Given the description of an element on the screen output the (x, y) to click on. 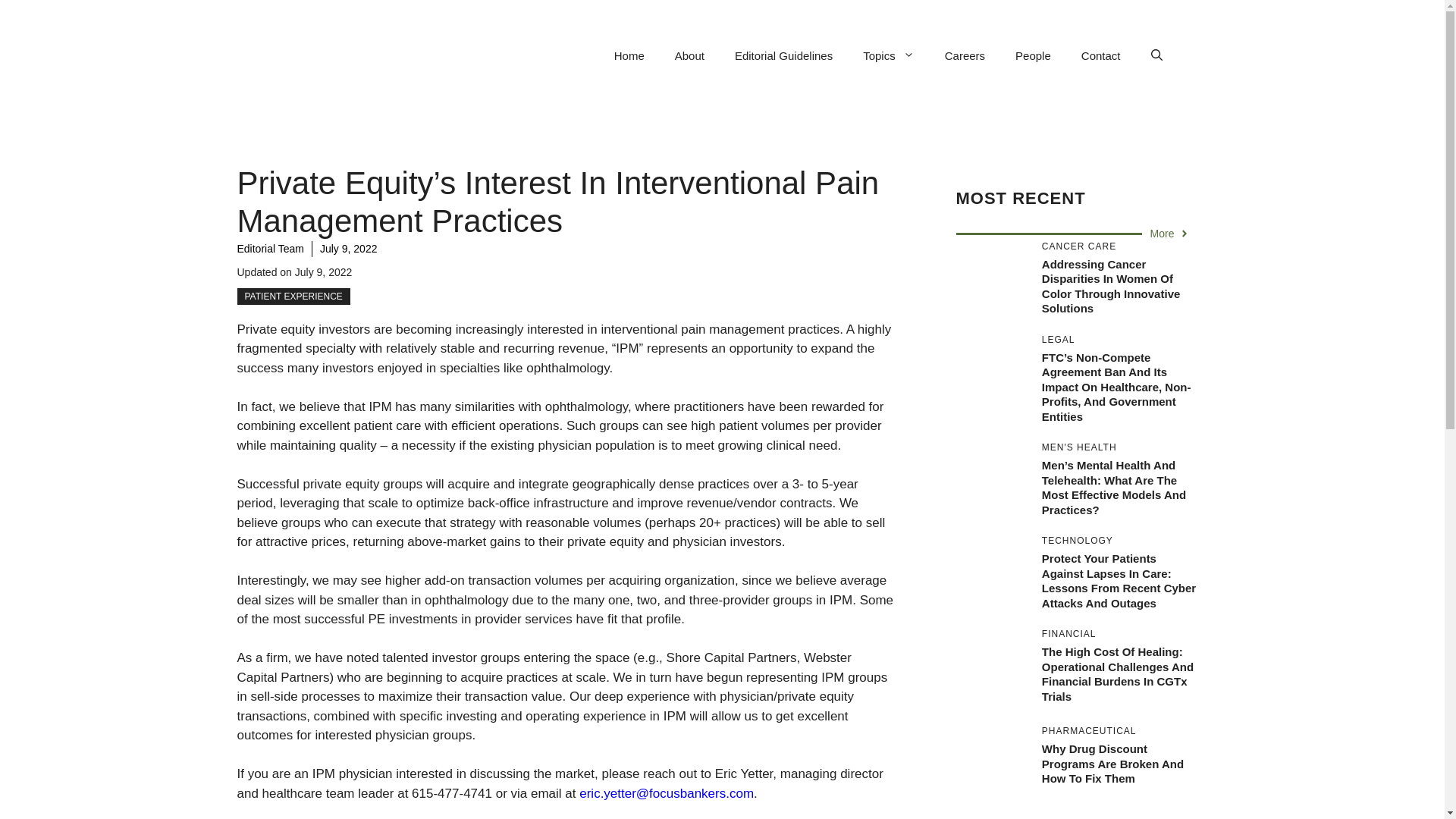
More (1170, 233)
Careers (965, 55)
Topics (888, 55)
PATIENT EXPERIENCE (292, 296)
Home (628, 55)
Contact (1100, 55)
People (1032, 55)
Editorial Team (268, 248)
Editorial Guidelines (783, 55)
